Given the description of an element on the screen output the (x, y) to click on. 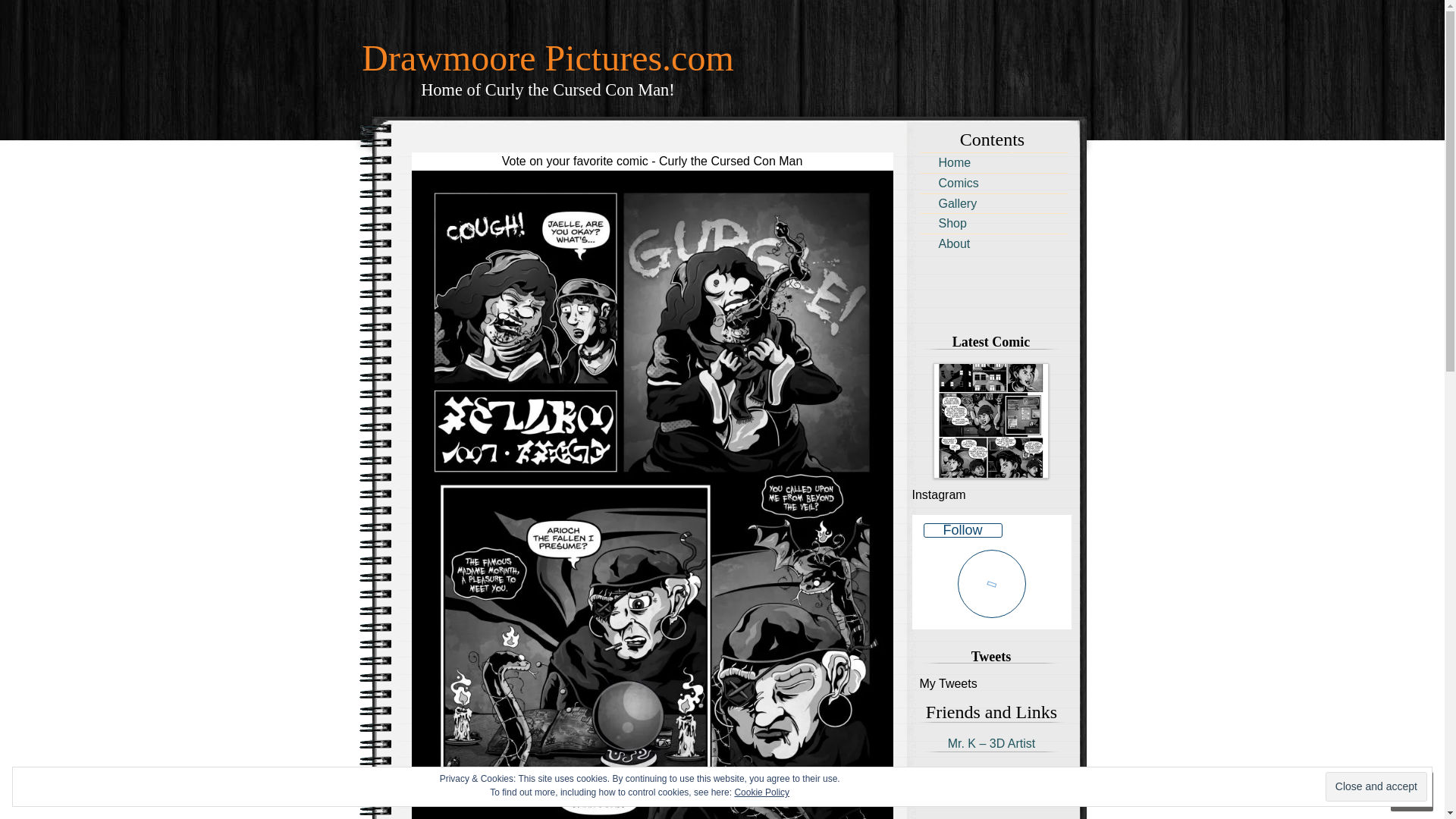
My grumpy sidekick Mr. K and his amazing 3D Art (990, 743)
Drawmoore Pictures.com (547, 49)
Permanent Link to Wraith of the Widower Page 07 (547, 49)
Close and accept (990, 420)
Gallery (1375, 786)
Vote on your favorite comic - Curly the Cursed Con Man (992, 203)
Close and accept (652, 160)
Comics (1375, 786)
Home (992, 182)
